Given the description of an element on the screen output the (x, y) to click on. 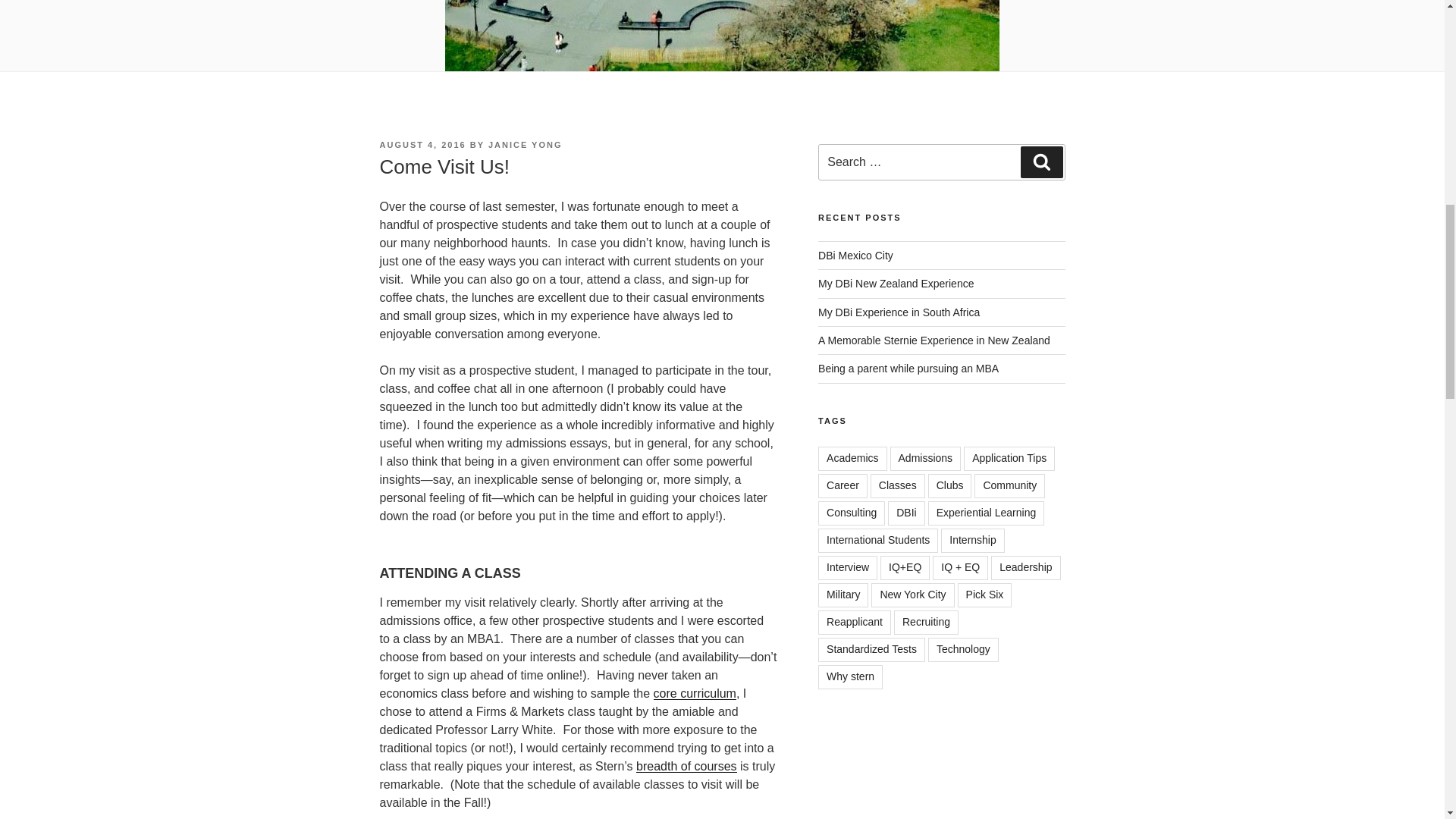
AUGUST 4, 2016 (421, 144)
Career (842, 485)
Clubs (950, 485)
Being a parent while pursuing an MBA (908, 368)
Search (1041, 162)
My DBi Experience in South Africa (898, 312)
core curriculum (694, 693)
JANICE YONG (524, 144)
Interview (847, 567)
Internship (972, 540)
